Given the description of an element on the screen output the (x, y) to click on. 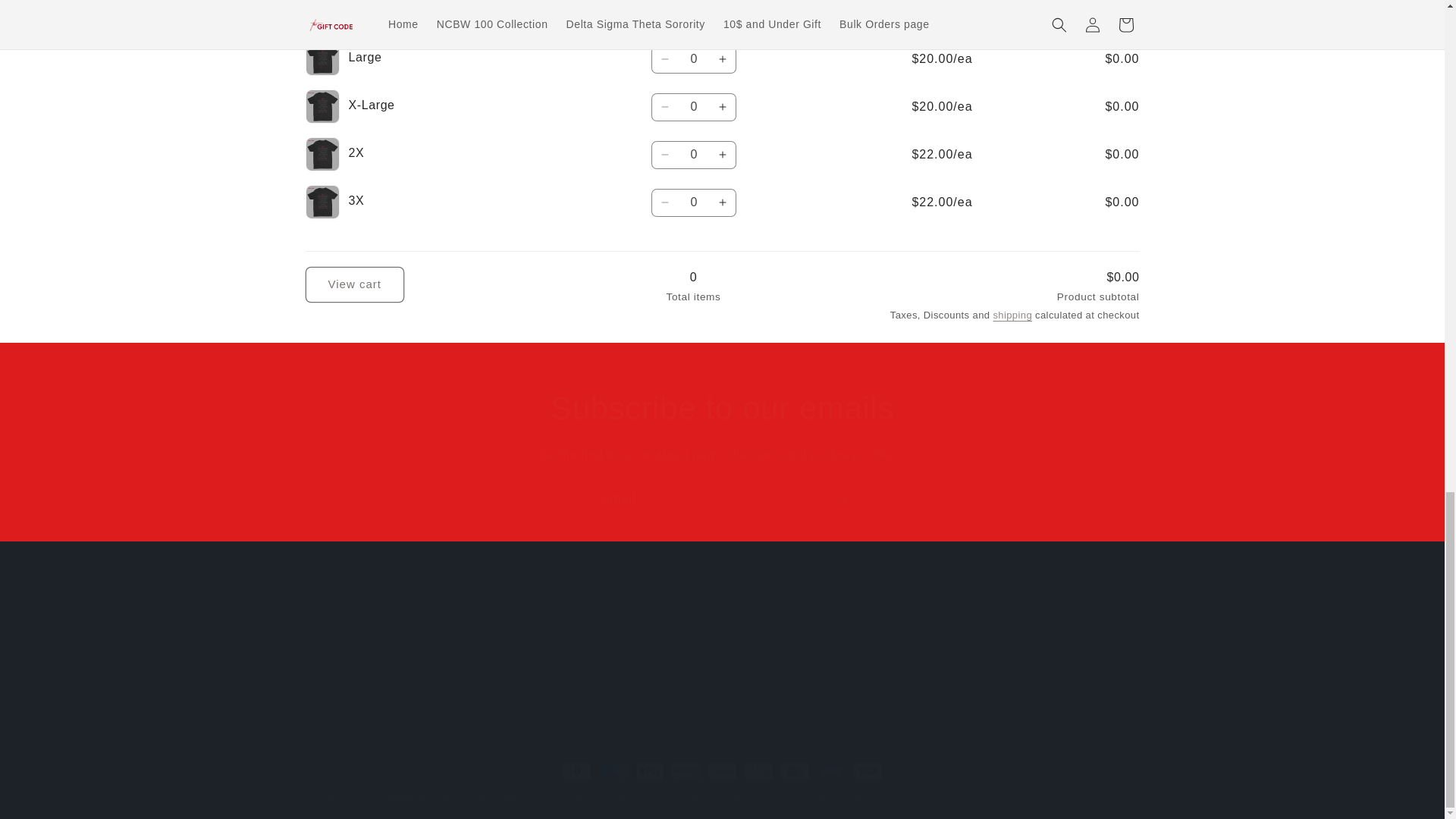
0 (693, 107)
Subscribe to our emails (721, 408)
Decrease quantity for Medium (721, 627)
0 (665, 12)
0 (693, 59)
0 (693, 203)
0 (693, 154)
Email (693, 12)
